Given the description of an element on the screen output the (x, y) to click on. 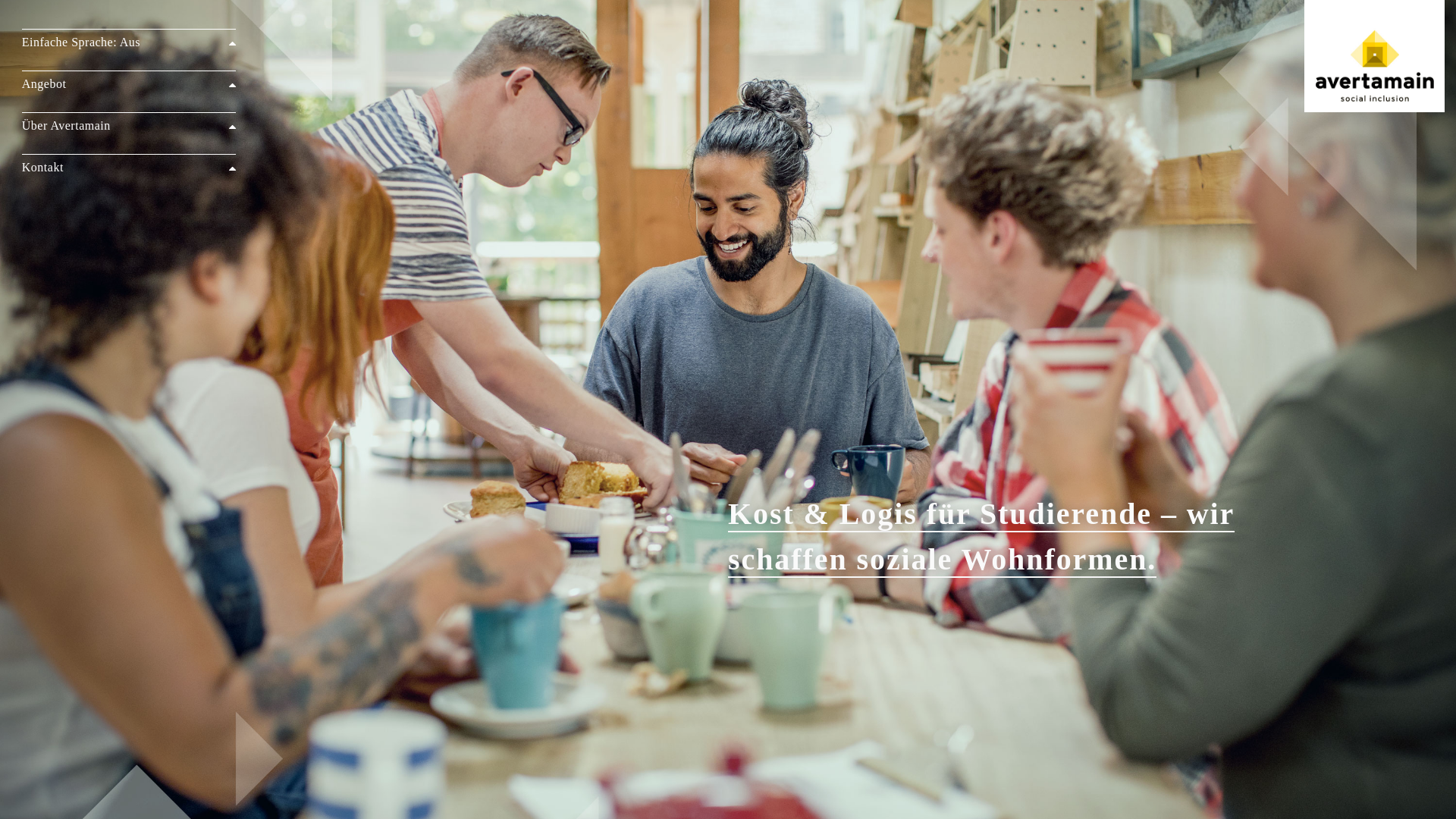
Angebot Element type: text (128, 81)
Einfache Sprache: Aus Element type: text (128, 39)
Kontakt Element type: text (128, 164)
